Given the description of an element on the screen output the (x, y) to click on. 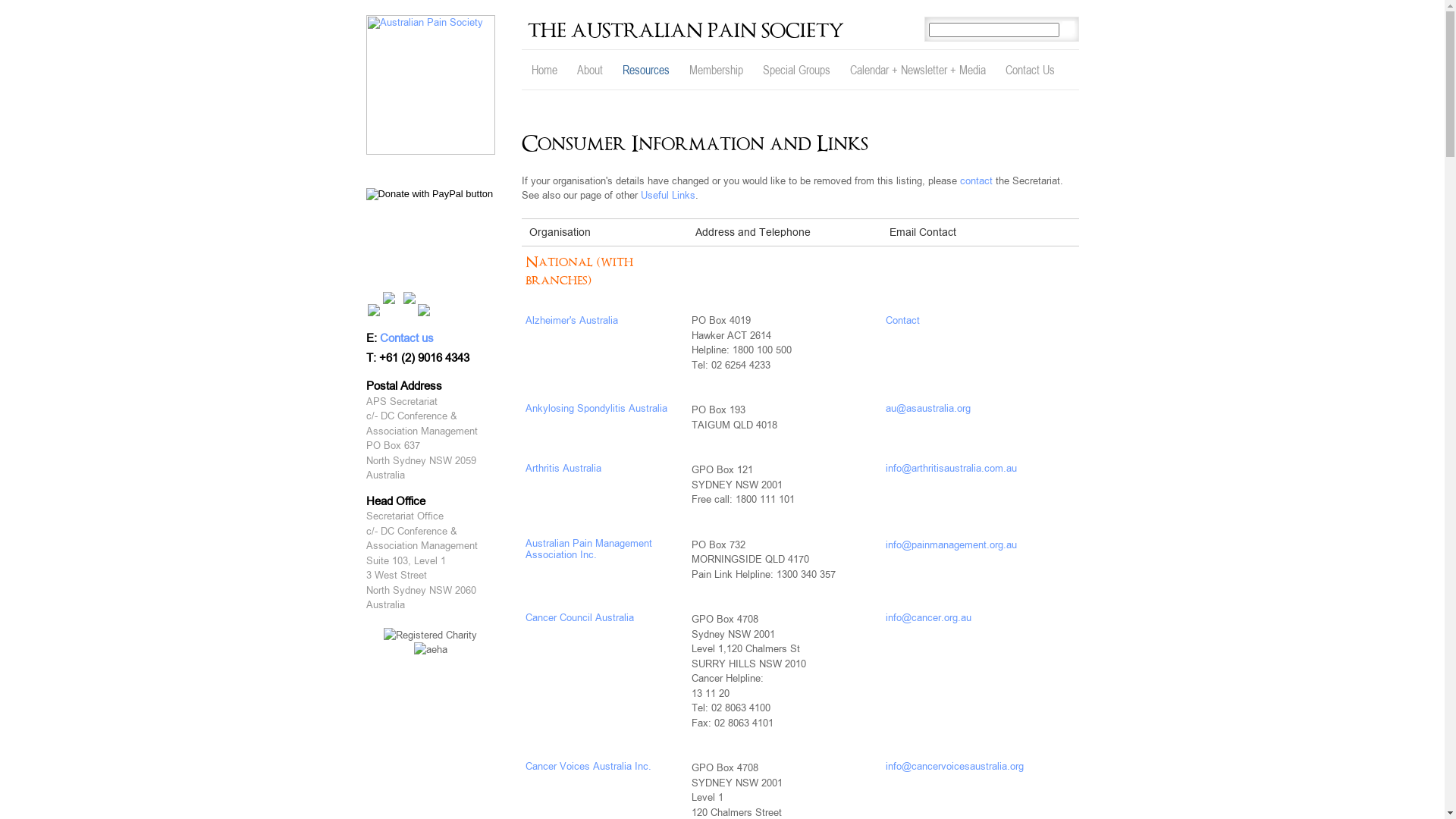
Australian Pain Society Element type: hover (429, 84)
Contact Us Element type: text (1028, 69)
Resources Element type: text (645, 69)
info@cancervoicesaustralia.org Element type: text (954, 765)
Calendar + Newsletter + Media Element type: text (917, 69)
info@arthritisaustralia.com.au Element type: text (950, 467)
Contact us Element type: text (406, 337)
Membership Element type: text (716, 69)
Arthritis Australia Element type: text (562, 467)
APS Blog Element type: text (431, 263)
au@asaustralia.org Element type: text (927, 407)
Useful Links Element type: text (667, 194)
Member Login Element type: text (431, 224)
info@painmanagement.org.au Element type: text (950, 544)
info@cancer.org.au Element type: text (928, 617)
Australian Pain Management Association Inc. Element type: text (587, 548)
Home Element type: text (544, 69)
PayPal - The safer, easier way to pay online! Element type: hover (428, 194)
Ankylosing Spondylitis Australia Element type: text (595, 407)
About Element type: text (589, 69)
Alzheimer's Australia Element type: text (570, 319)
Cancer Council Australia Element type: text (578, 617)
Cancer Voices Australia Inc. Element type: text (587, 765)
contact Element type: text (976, 180)
Special Groups Element type: text (795, 69)
Contact Element type: text (902, 319)
